Given the description of an element on the screen output the (x, y) to click on. 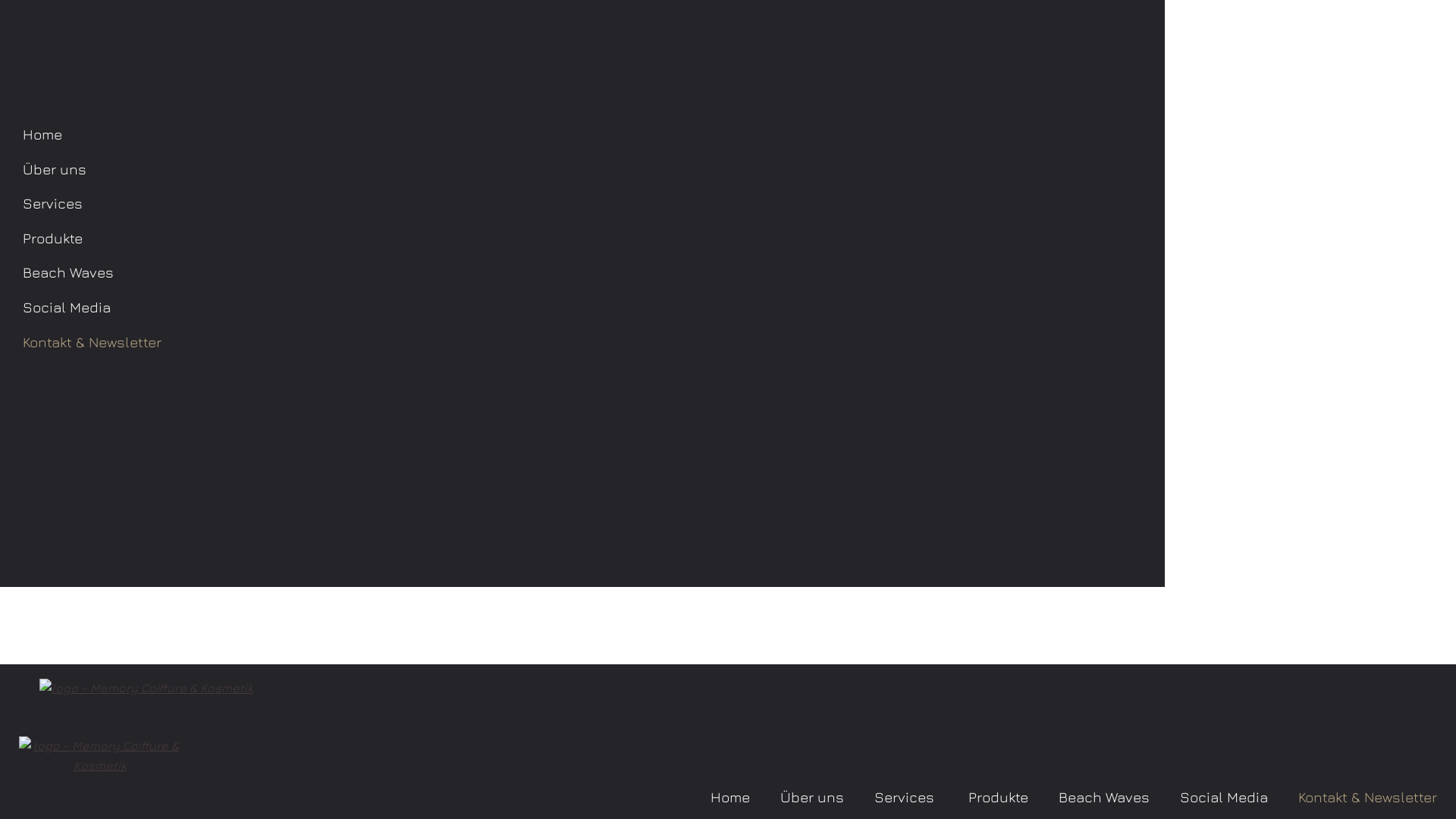
Services Element type: text (458, 203)
Services Element type: text (906, 799)
Home Element type: text (729, 799)
Kontakt & Newsletter Element type: text (1367, 799)
Beach Waves Element type: text (1103, 799)
Home Element type: text (458, 134)
Kontakt & Newsletter Element type: text (458, 342)
Social Media Element type: text (1223, 799)
Produkte Element type: text (998, 799)
Social Media Element type: text (458, 307)
Produkte Element type: text (458, 238)
Beach Waves Element type: text (458, 272)
